Given the description of an element on the screen output the (x, y) to click on. 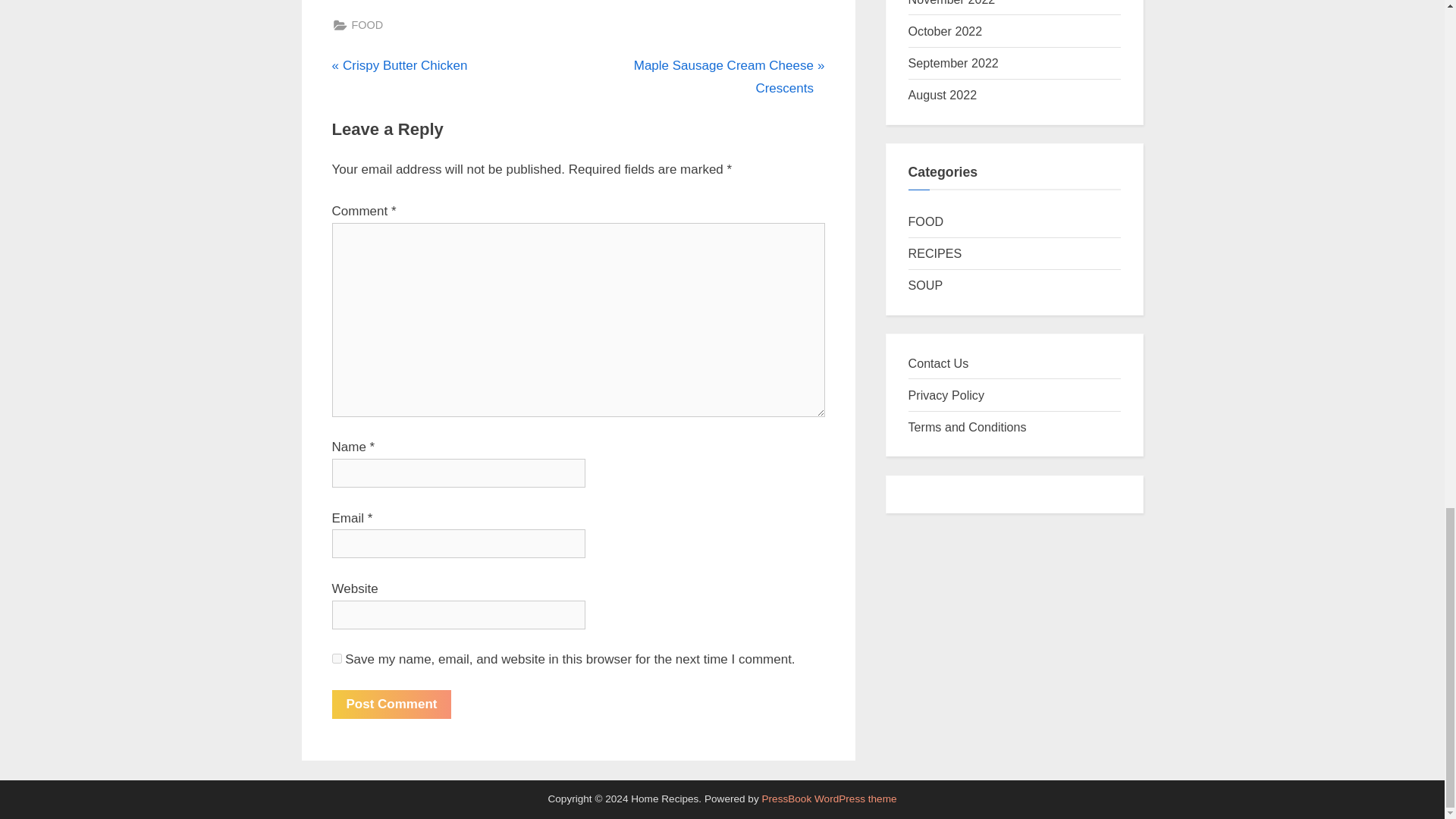
yes (336, 658)
FOOD (368, 25)
Post Comment (391, 704)
Post Comment (391, 704)
